Given the description of an element on the screen output the (x, y) to click on. 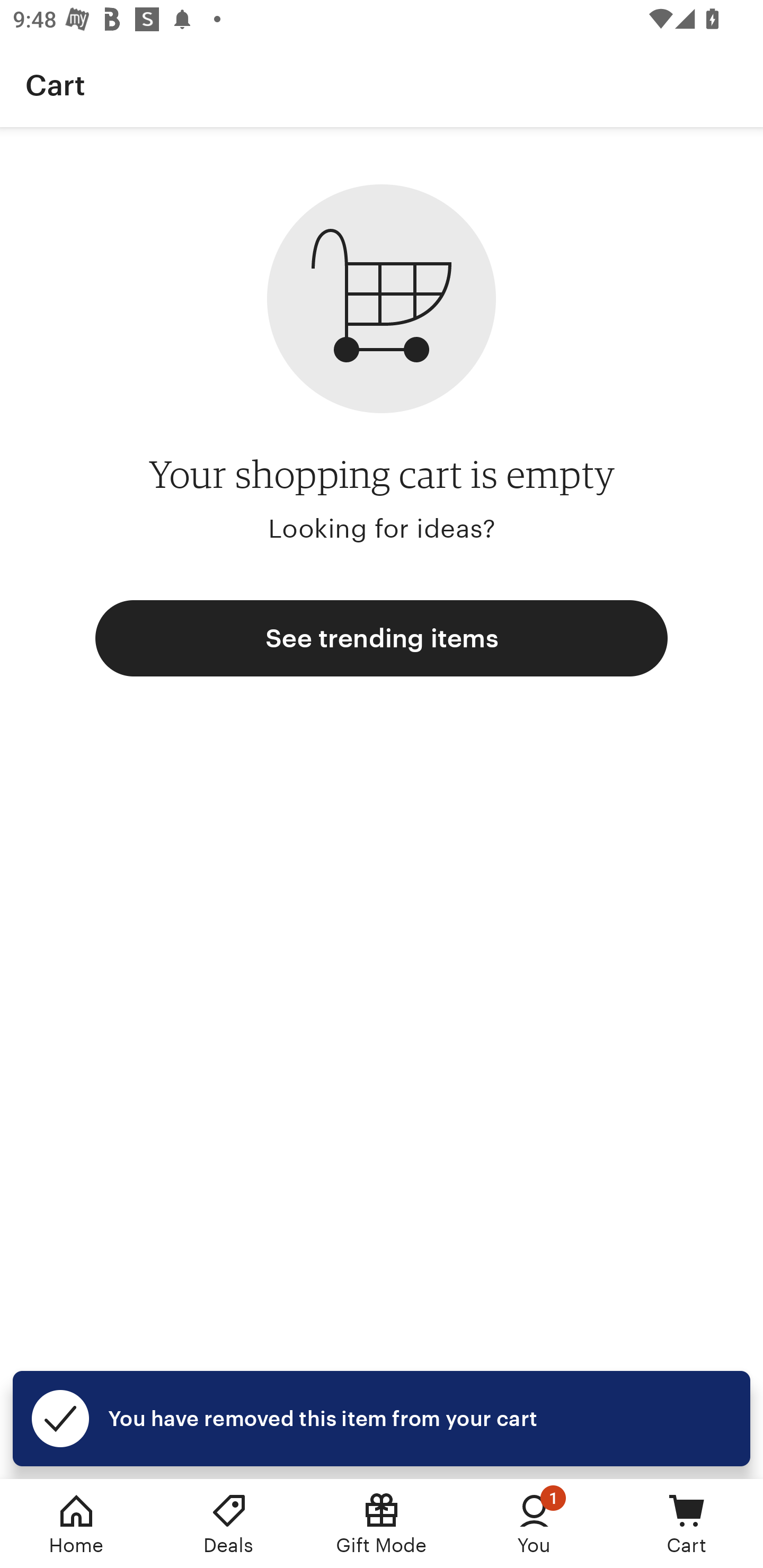
See trending items (381, 637)
Home (76, 1523)
Deals (228, 1523)
Gift Mode (381, 1523)
You, 1 new notification You (533, 1523)
